Given the description of an element on the screen output the (x, y) to click on. 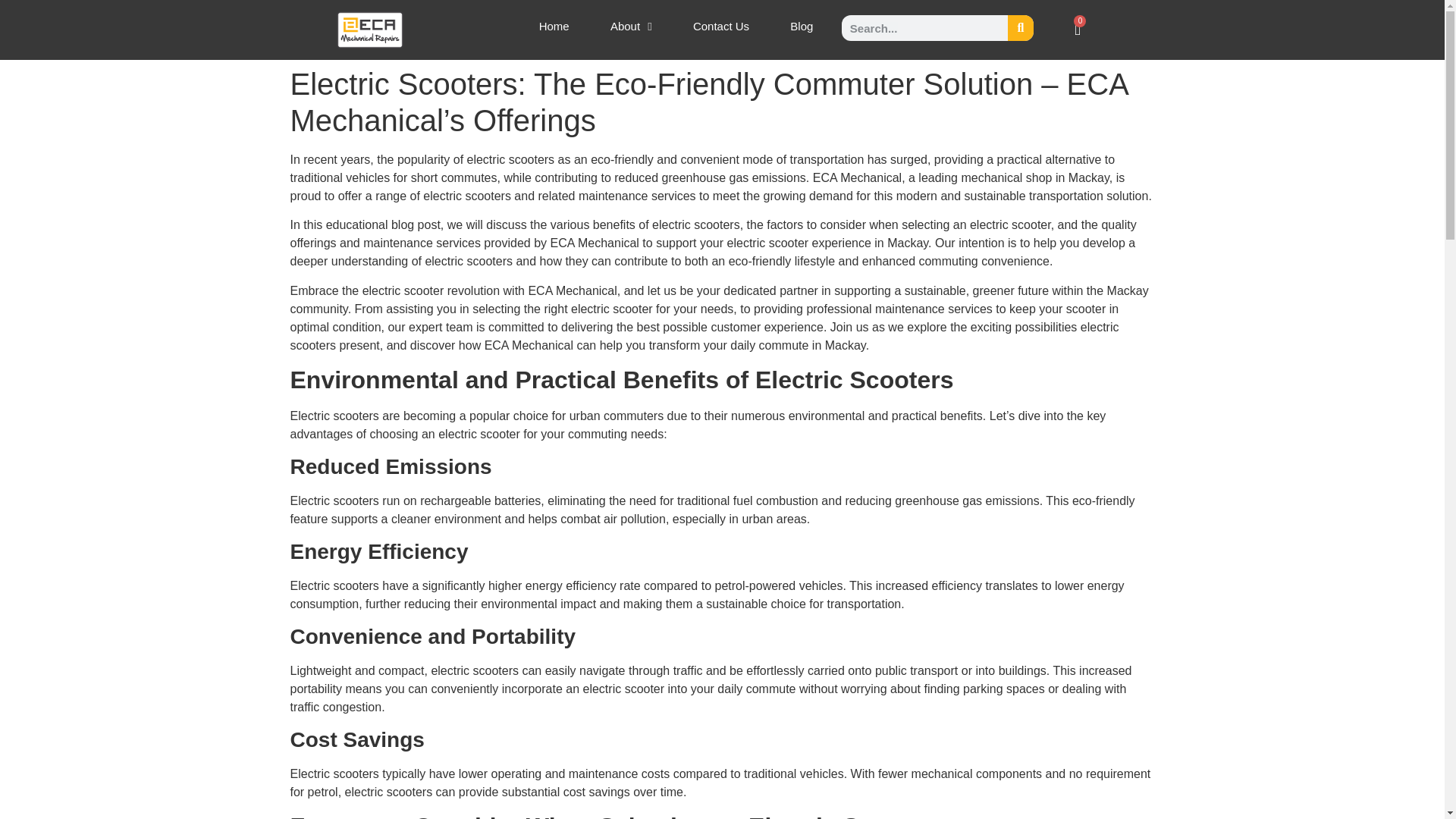
Home (553, 26)
About (630, 26)
Contact Us (721, 26)
Blog (801, 26)
0 (1078, 28)
